Given the description of an element on the screen output the (x, y) to click on. 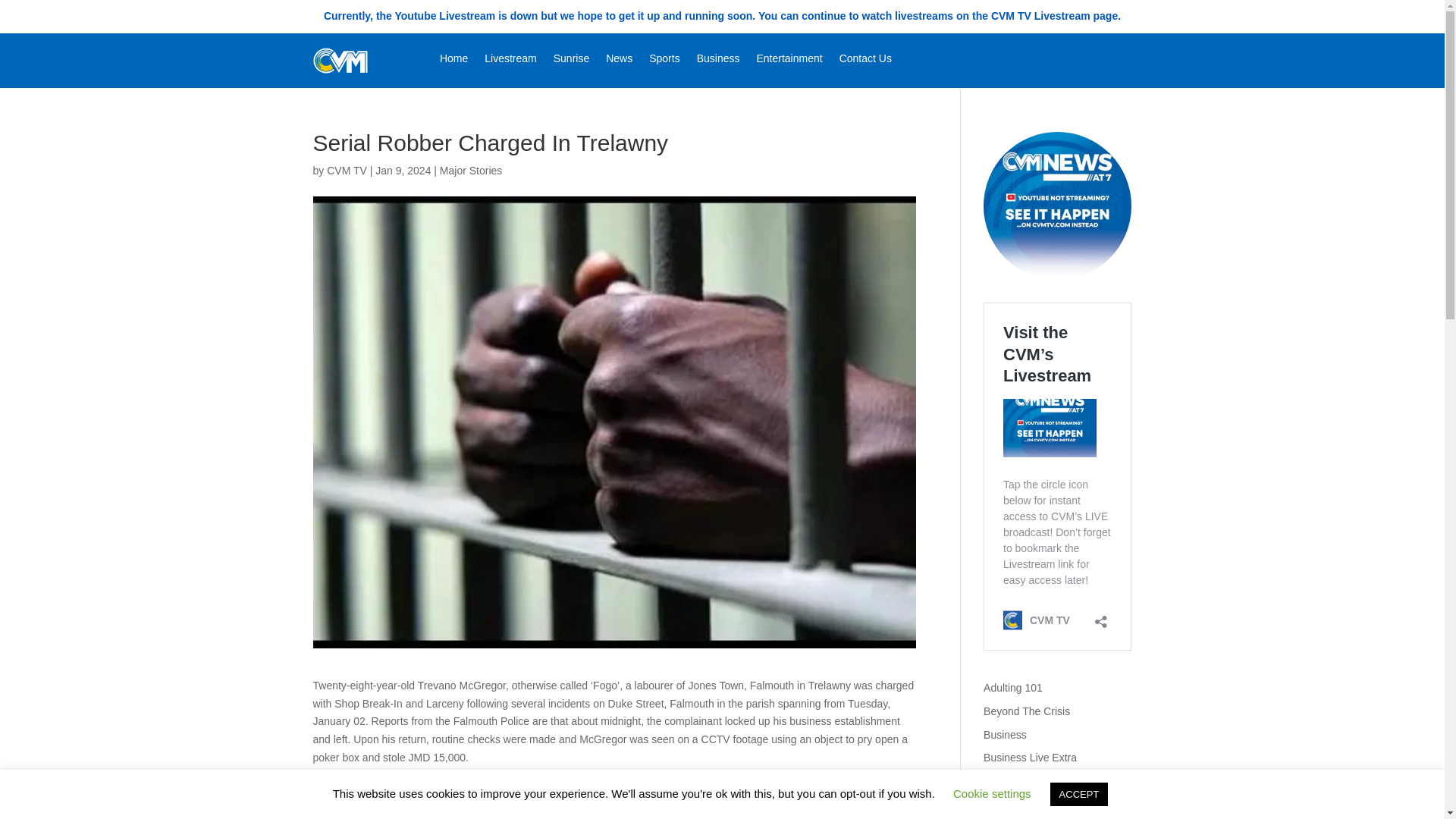
COVID-19 (1008, 804)
Business News (1020, 780)
Livestream (509, 61)
Entertainment (788, 61)
Major Stories (470, 170)
Posts by CVM TV (346, 170)
Contact Us (865, 61)
Sports (664, 61)
Sunrise (571, 61)
Business (1005, 734)
News (618, 61)
LIVE (1057, 205)
Business Live Extra (1030, 757)
CVM-Logo-NEW-White (339, 60)
Adulting 101 (1013, 687)
